Given the description of an element on the screen output the (x, y) to click on. 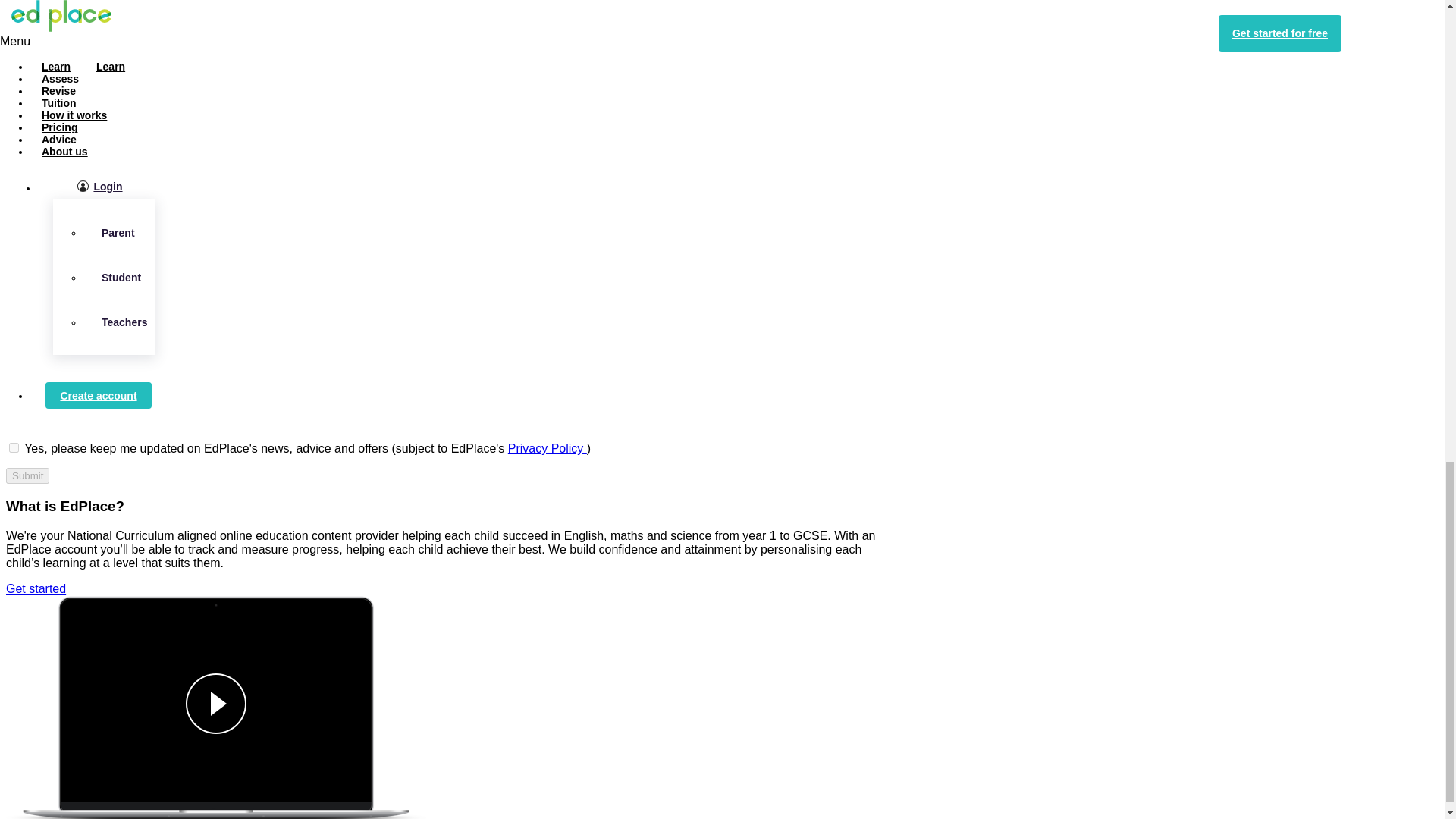
1 (13, 447)
